Given the description of an element on the screen output the (x, y) to click on. 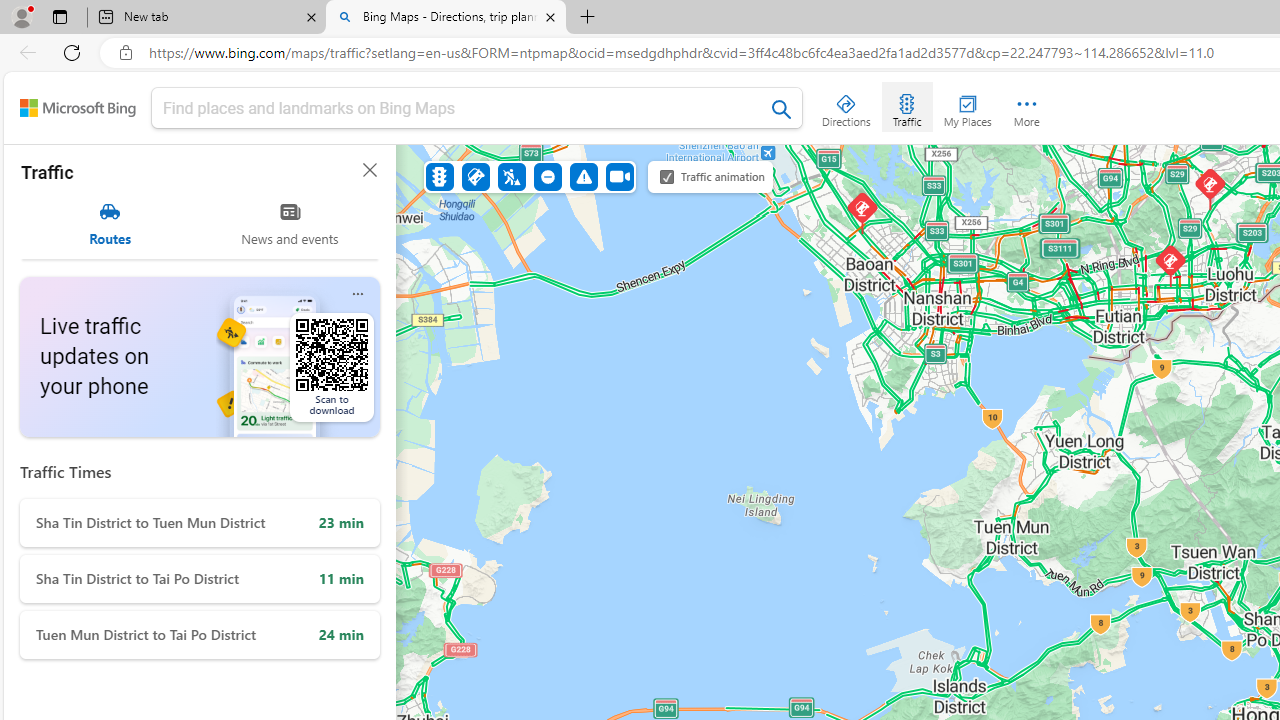
Traffic animation (667, 176)
More (1026, 106)
Live traffic updates on your phone Scan to download (200, 357)
Traffic (906, 106)
Traffic (440, 176)
Miscellaneous incidents (583, 176)
Back to Bing search (77, 107)
